Given the description of an element on the screen output the (x, y) to click on. 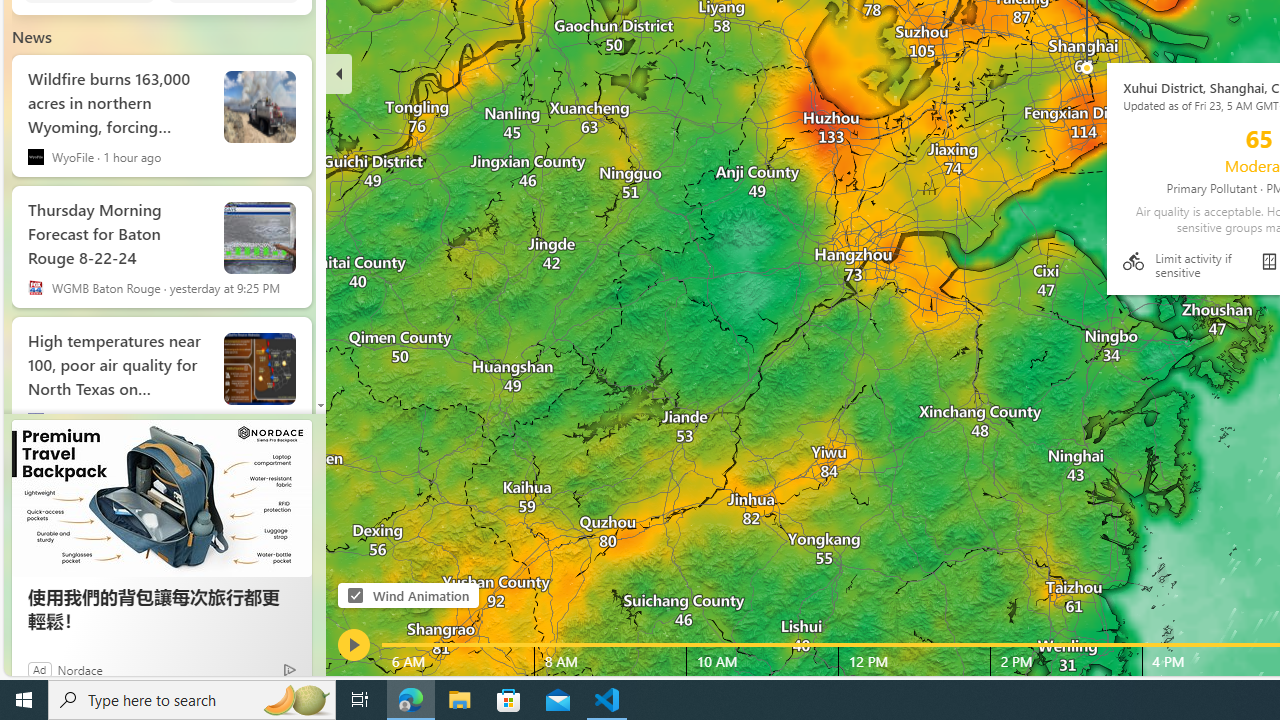
Ad Choice (289, 668)
Thursday Morning Forecast for Baton Rouge 8-22-24 (117, 229)
Thursday Morning Forecast for Baton Rouge 8-22-24 (259, 238)
Hide (339, 73)
WGMB Baton Rouge (35, 287)
News (31, 36)
Nordace (79, 669)
Ad (40, 669)
